Given the description of an element on the screen output the (x, y) to click on. 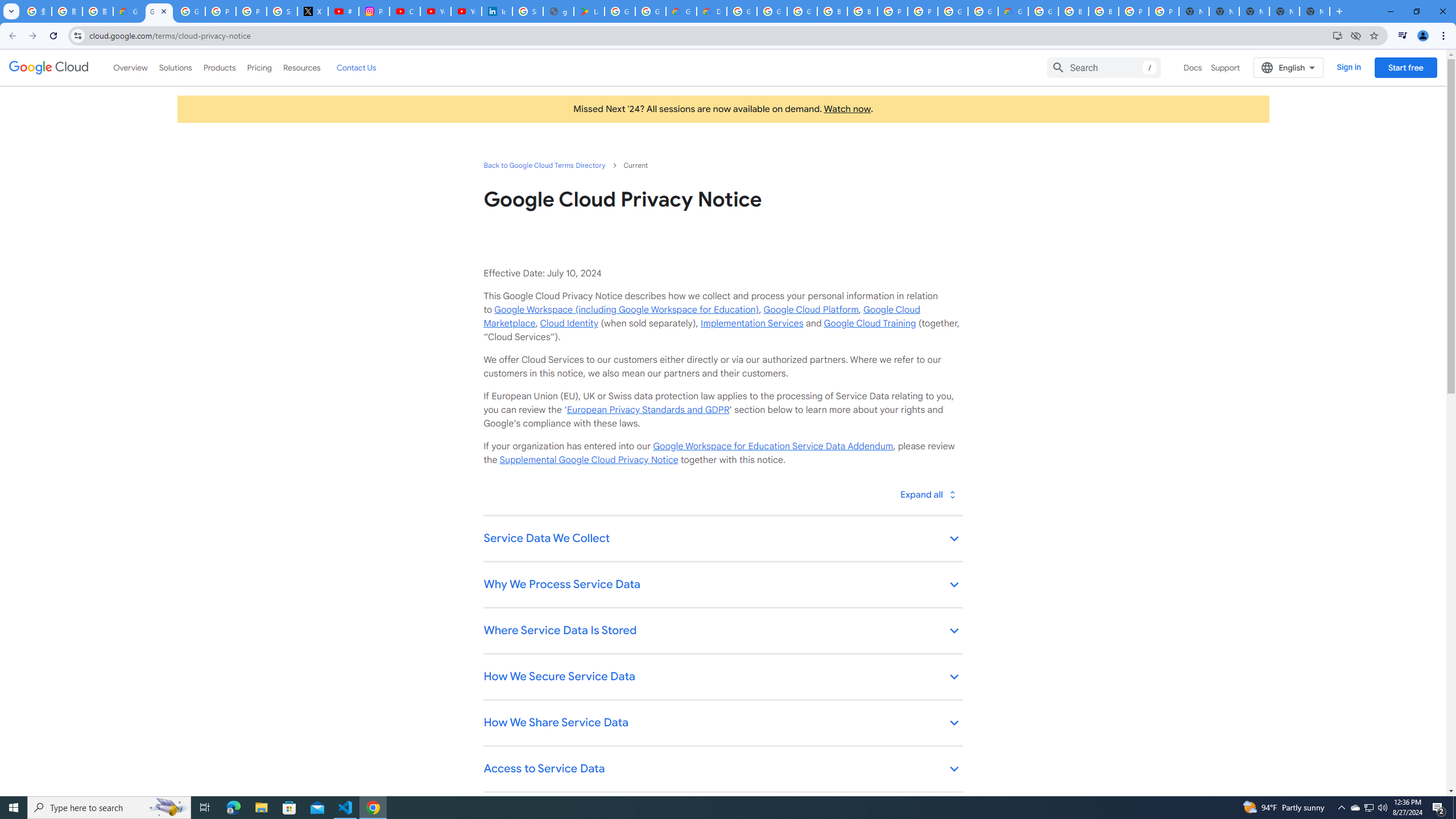
Watch now (847, 108)
Resources (301, 67)
Contact Us (355, 67)
Google Cloud Estimate Summary (1012, 11)
Google Cloud Marketplace (701, 316)
Google Cloud Platform (741, 11)
Google Cloud Training (869, 323)
